Given the description of an element on the screen output the (x, y) to click on. 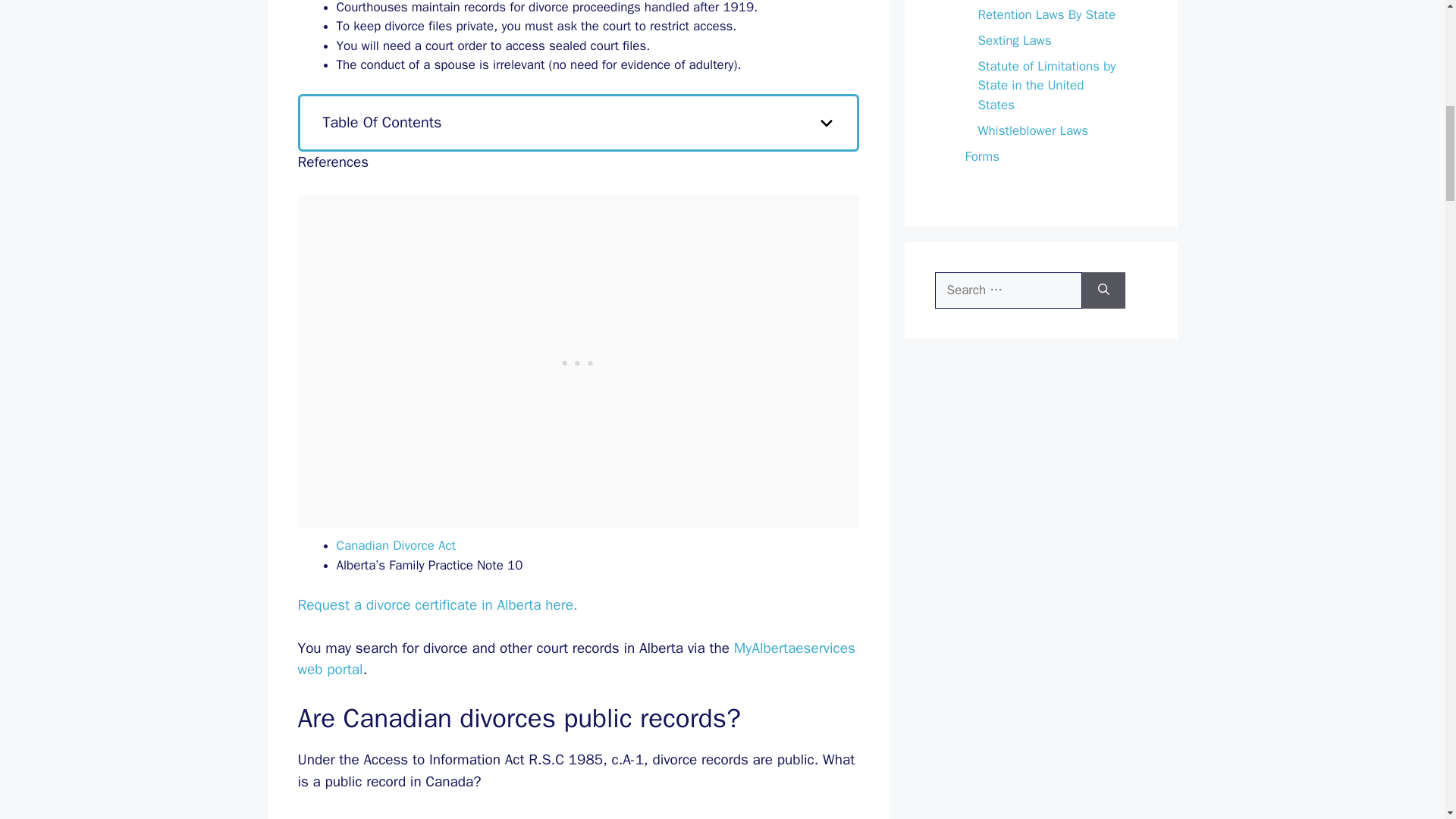
Search for: (1007, 289)
